Given the description of an element on the screen output the (x, y) to click on. 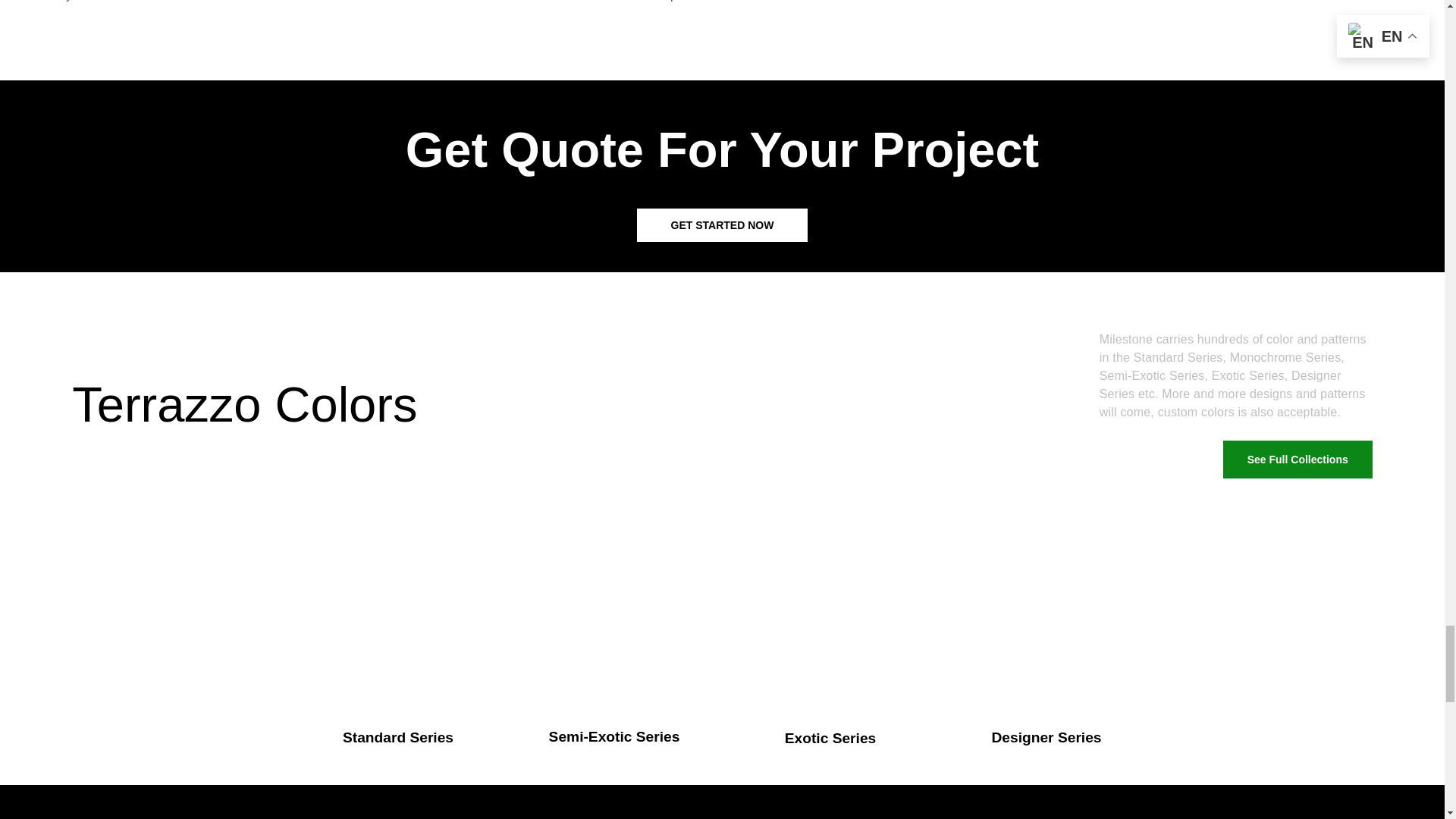
GET STARTED NOW (722, 224)
See Full Collections (1298, 459)
